Given the description of an element on the screen output the (x, y) to click on. 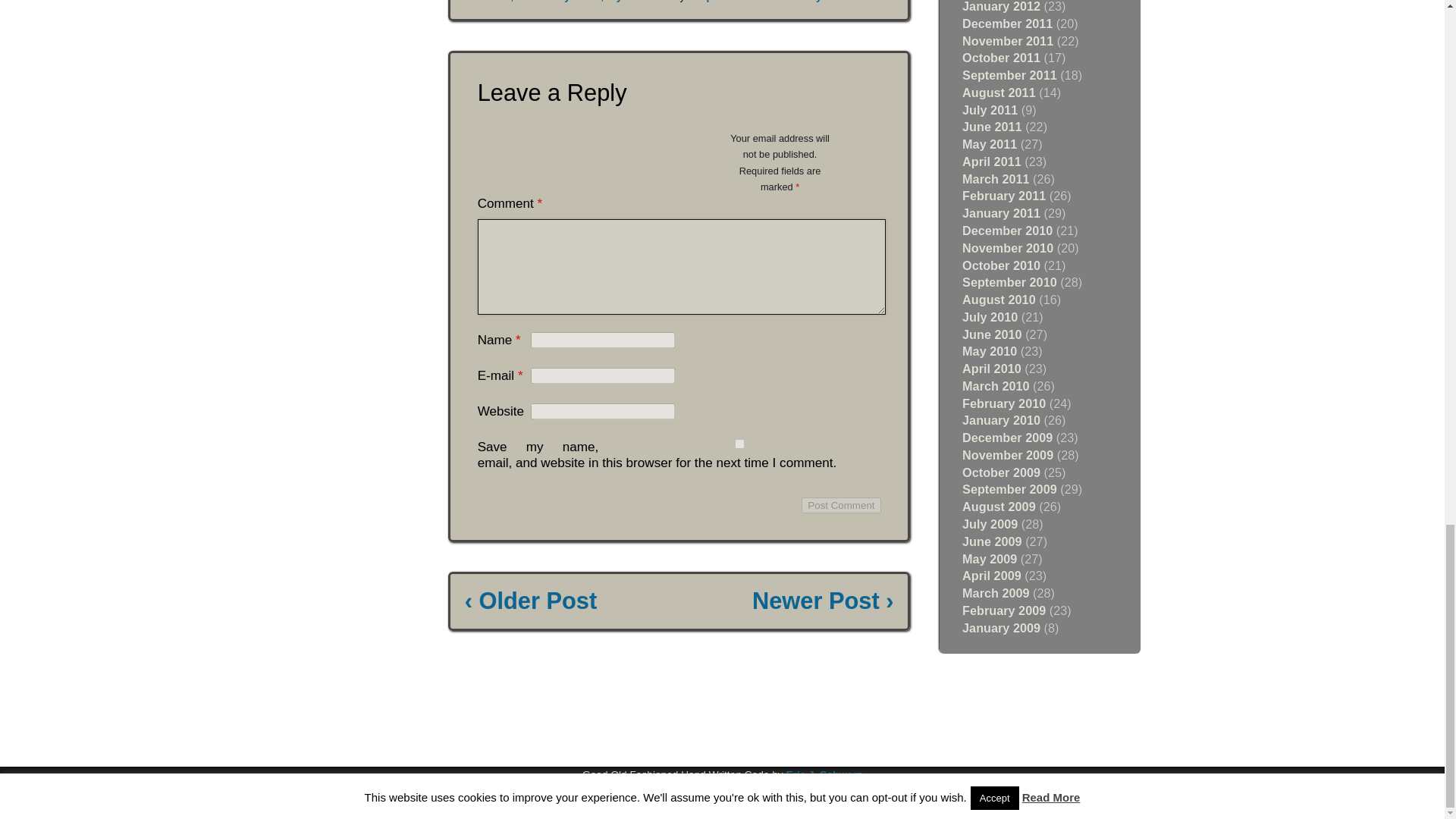
yes (739, 443)
Posts by banpei (703, 1)
Post Comment (841, 505)
